Given the description of an element on the screen output the (x, y) to click on. 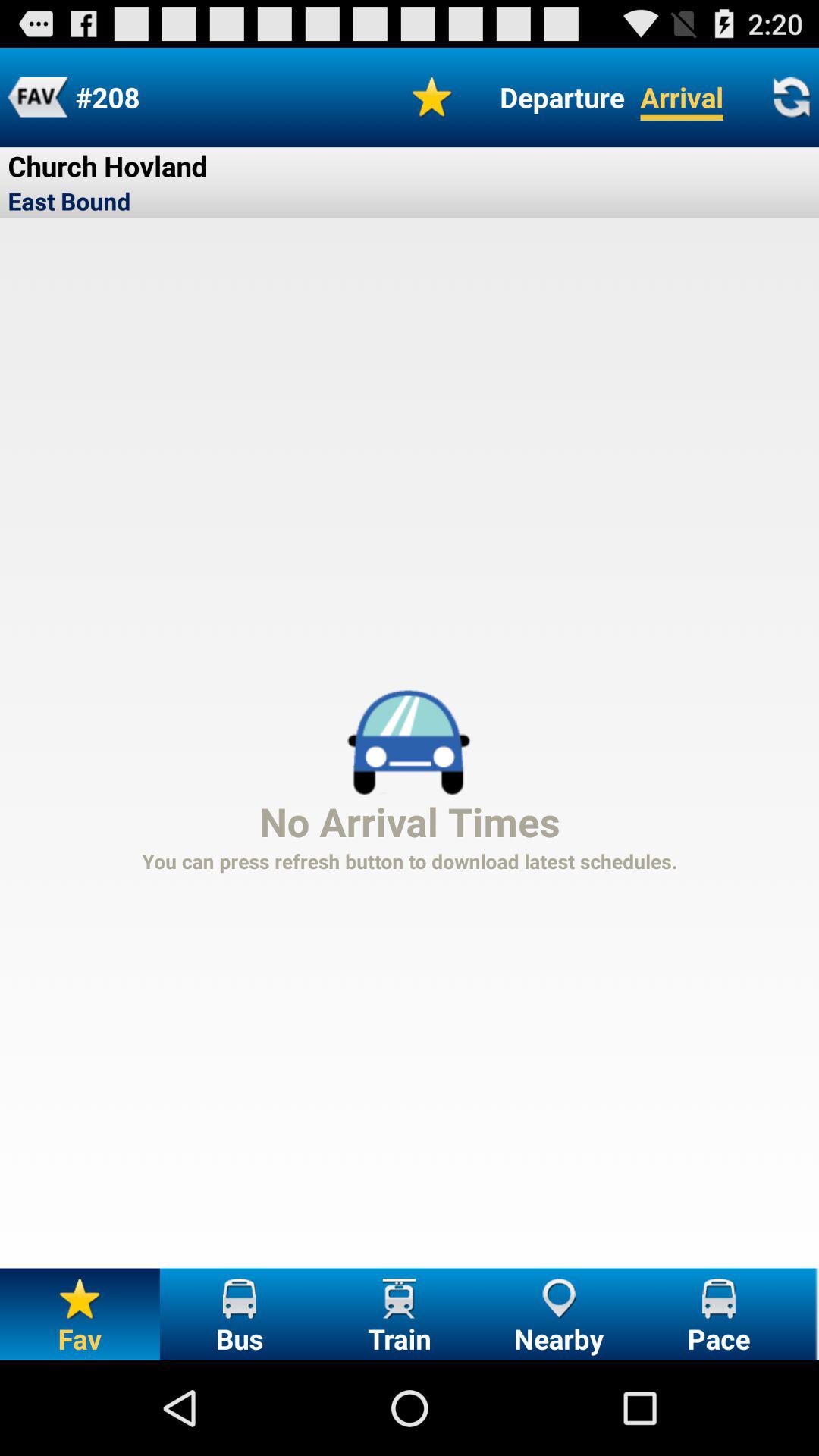
choose the app above the church hovland icon (37, 97)
